Given the description of an element on the screen output the (x, y) to click on. 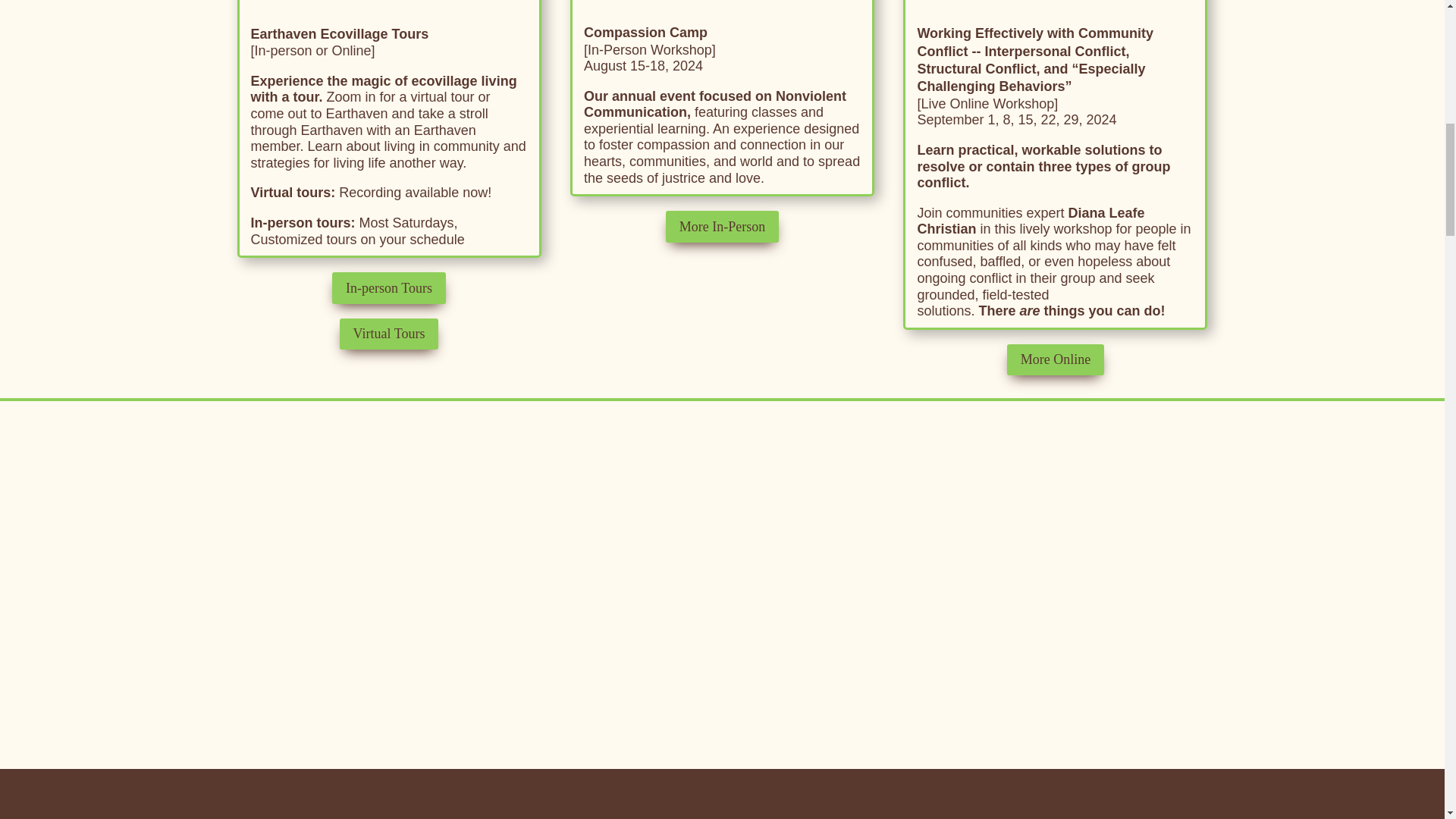
In-person Tours (388, 287)
Earthaven Ecovillage Tours (339, 33)
Virtual Tours (389, 333)
